Given the description of an element on the screen output the (x, y) to click on. 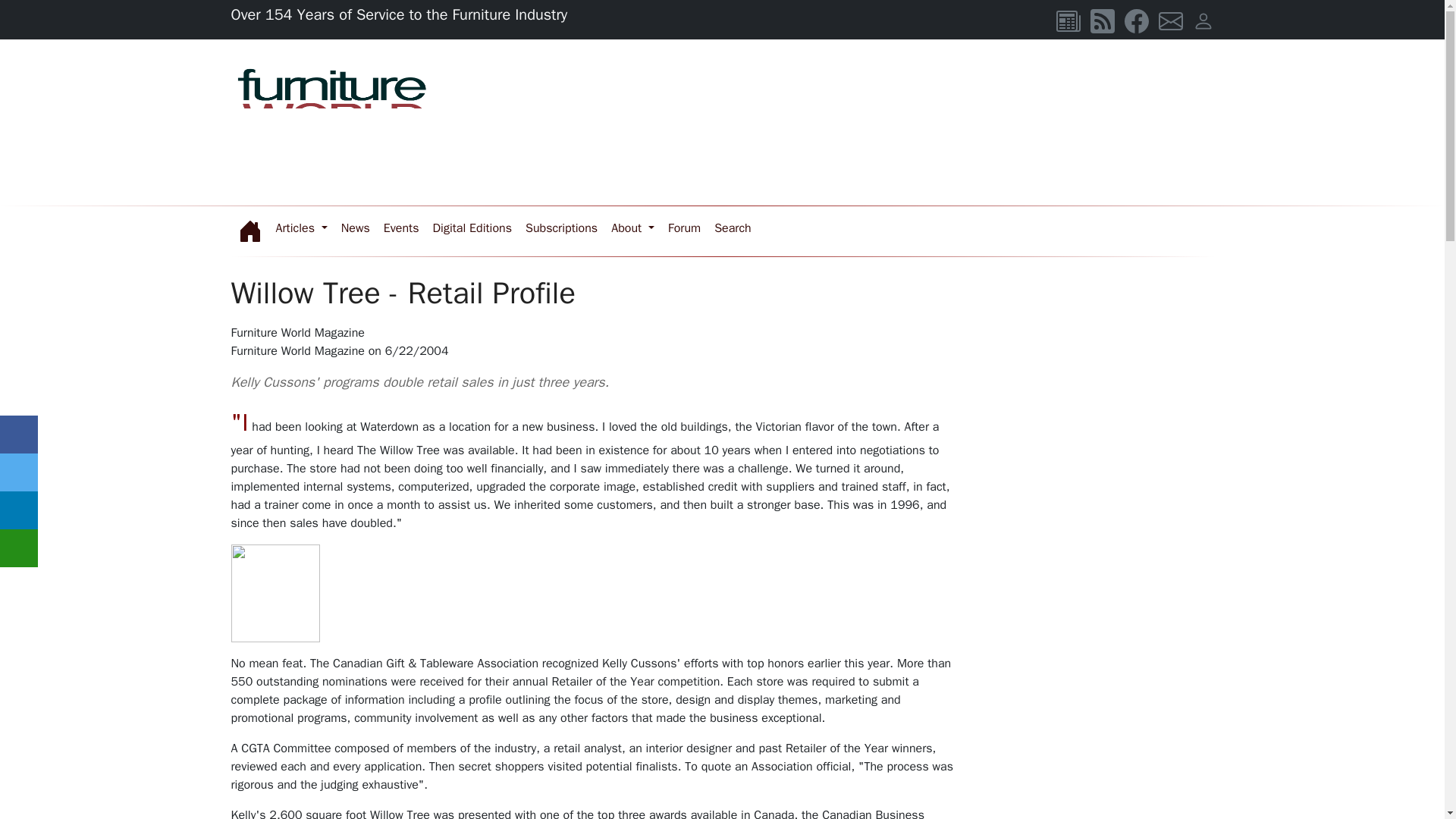
Furniture Industry Magazine Digitial Editions (472, 228)
Subscriptions (561, 228)
Digital Editions (472, 228)
Furniture World Magazine Print Subscriptions (561, 228)
Events (401, 228)
Furniture Industry Forum (732, 228)
Articles (300, 228)
Furniture Industry Forum (684, 228)
Forum (684, 228)
About (632, 228)
